Given the description of an element on the screen output the (x, y) to click on. 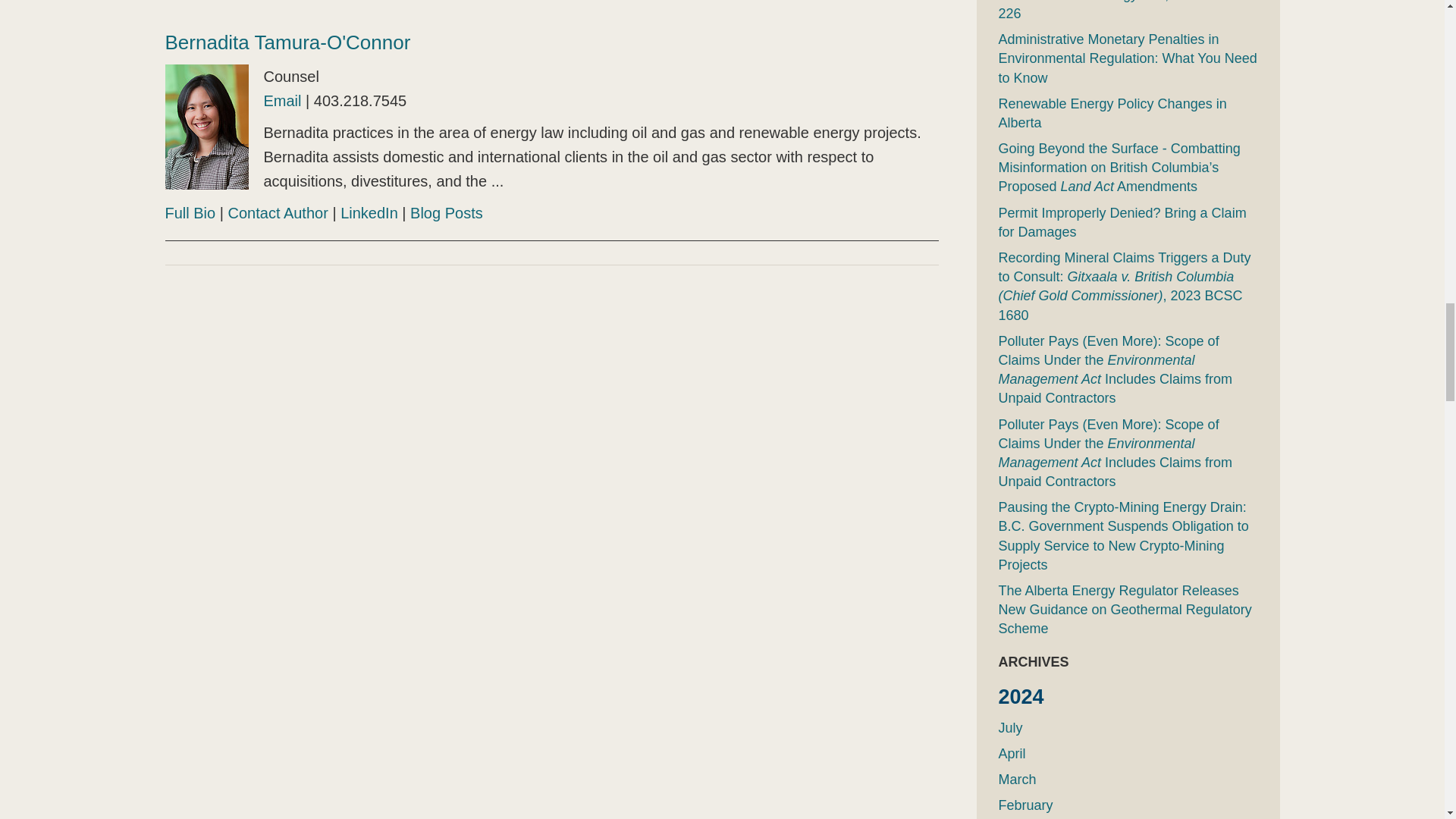
Bernadita Tamura-O'Connor (287, 42)
LinkedIn (368, 212)
Email (282, 100)
Blog Posts (446, 212)
403.218.7545 (360, 100)
Contact Author (278, 212)
Full Bio (190, 212)
